Given the description of an element on the screen output the (x, y) to click on. 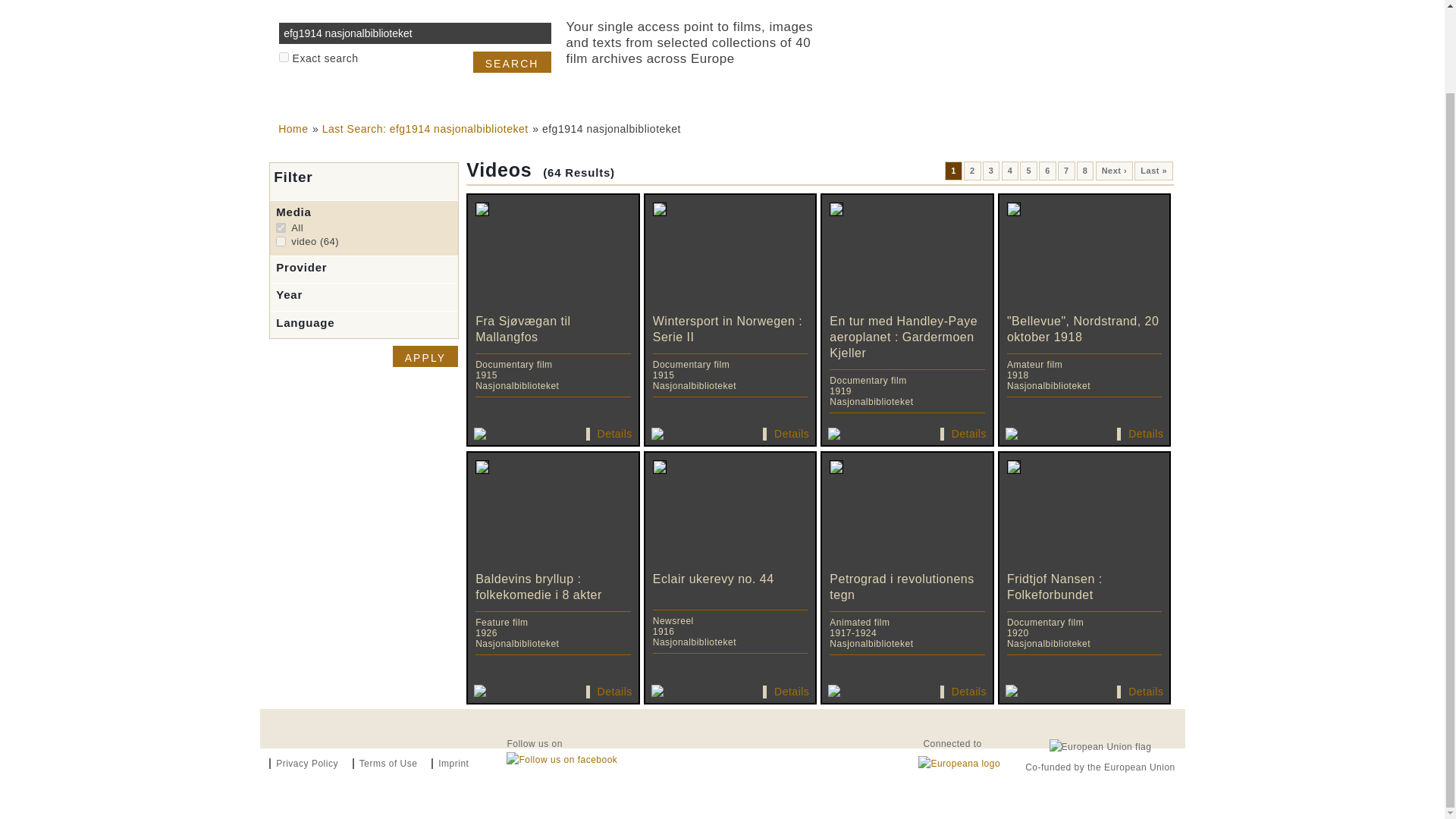
Home (292, 128)
Search (512, 61)
all (280, 227)
Apply (425, 355)
exact (991, 170)
efg1914 nasjonalbiblioteket (972, 170)
Search (953, 170)
Apply (283, 57)
video (414, 33)
efg1914 nasjonalbiblioteket (512, 61)
Last Search: efg1914 nasjonalbiblioteket (425, 355)
